Given the description of an element on the screen output the (x, y) to click on. 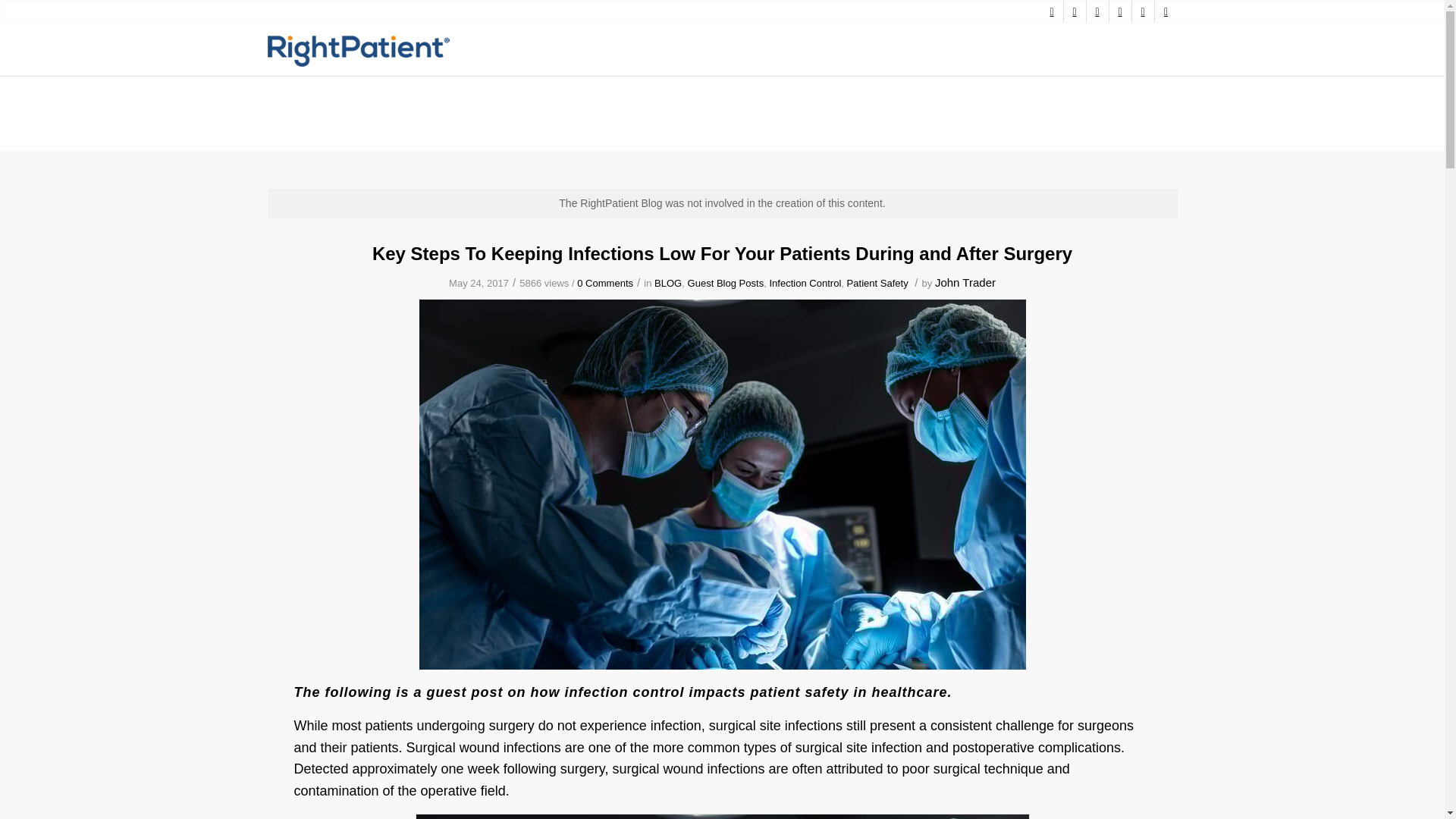
Posts by John Trader (964, 282)
John Trader (964, 282)
Facebook (1097, 11)
0 Comments (604, 283)
Rss (1142, 11)
Guest Blog Posts (725, 283)
Linkedin (1119, 11)
